Given the description of an element on the screen output the (x, y) to click on. 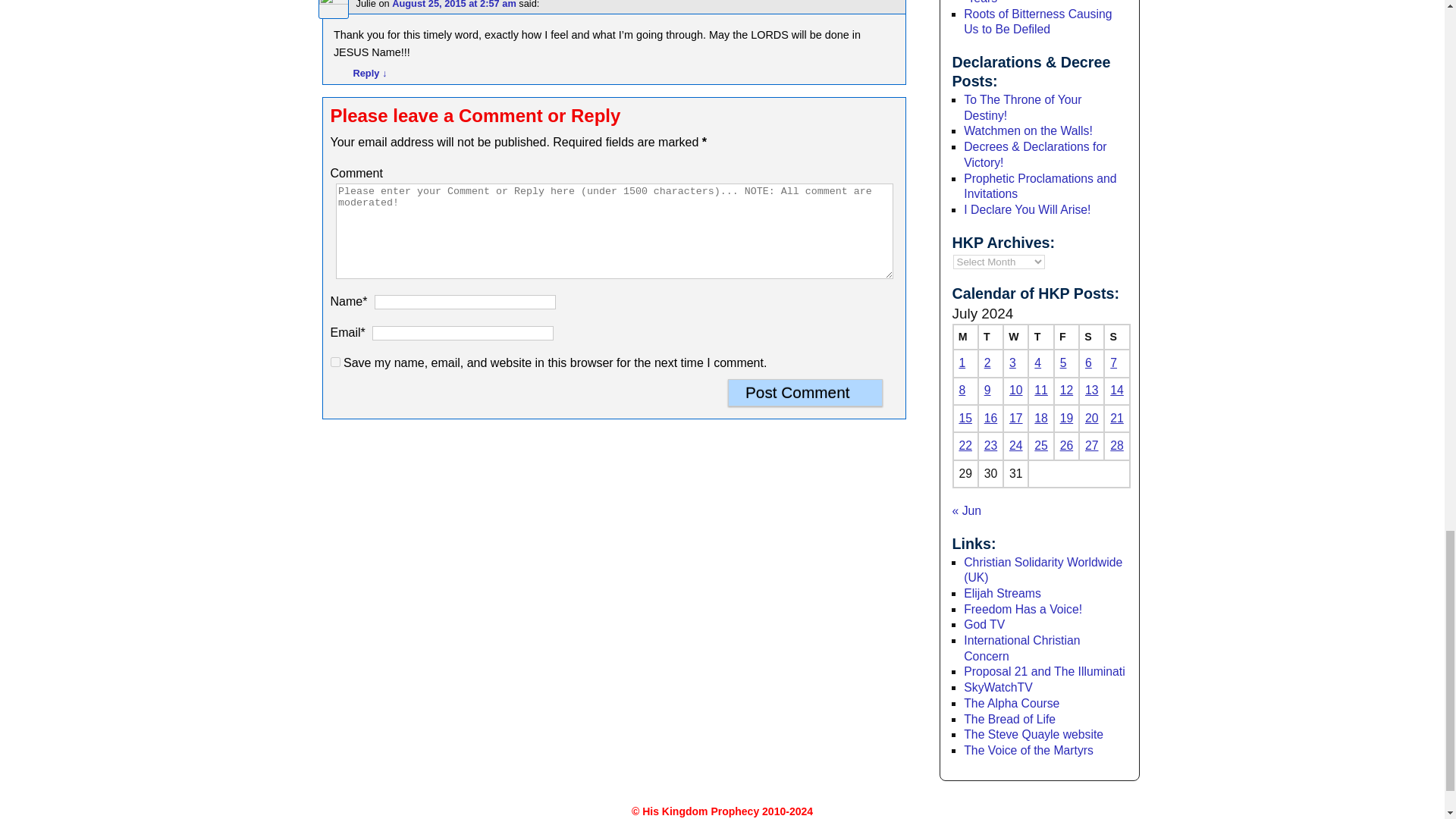
Post Comment (805, 392)
Thursday (1039, 336)
Sunday (1116, 336)
Monday (964, 336)
Saturday (1090, 336)
Tuesday (990, 336)
yes (335, 361)
Friday (1066, 336)
Wednesday (1015, 336)
